Given the description of an element on the screen output the (x, y) to click on. 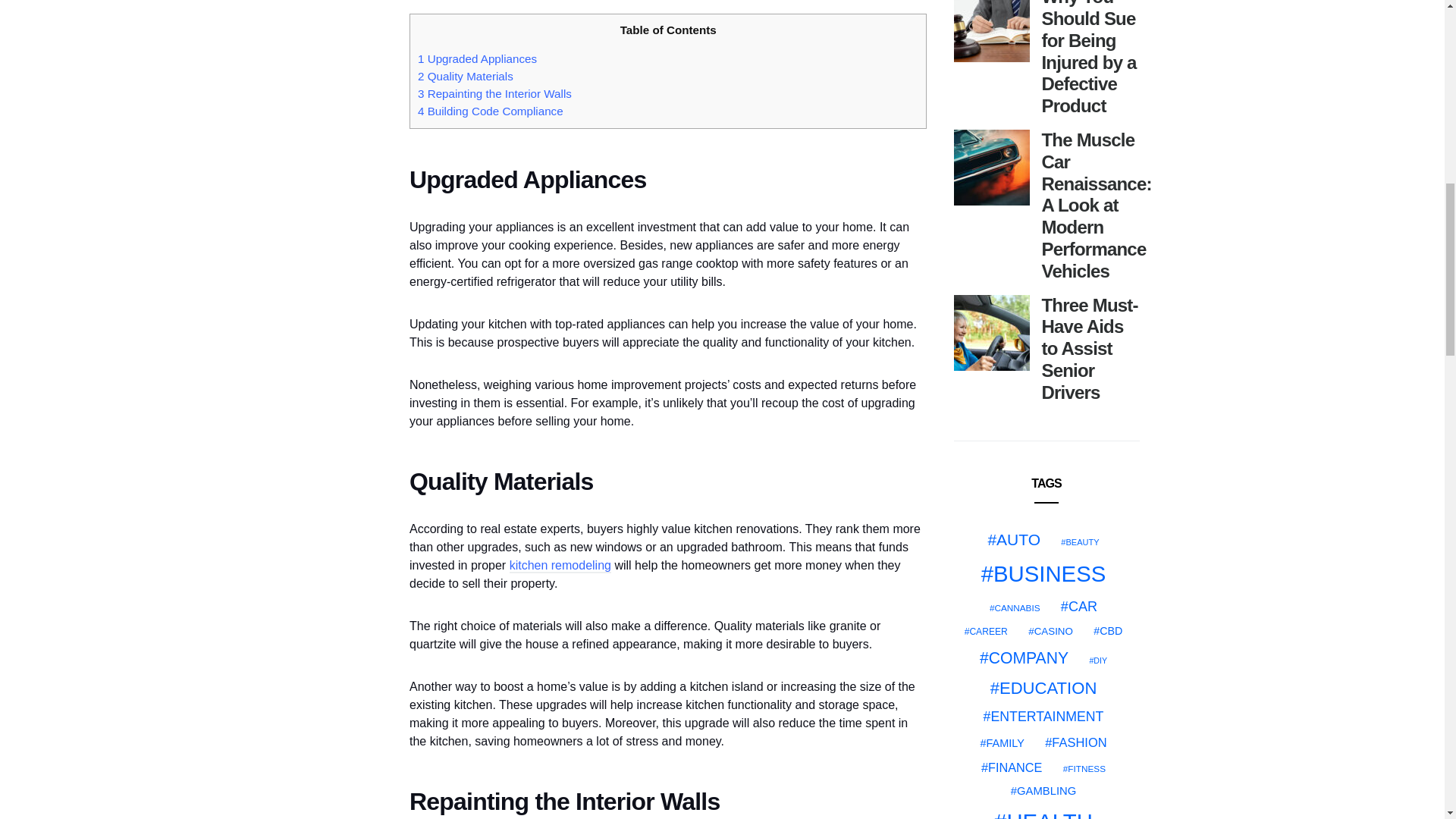
3 Repainting the Interior Walls (494, 92)
2 Quality Materials (465, 75)
kitchen remodeling (560, 565)
1 Upgraded Appliances (477, 58)
4 Building Code Compliance (490, 110)
